Given the description of an element on the screen output the (x, y) to click on. 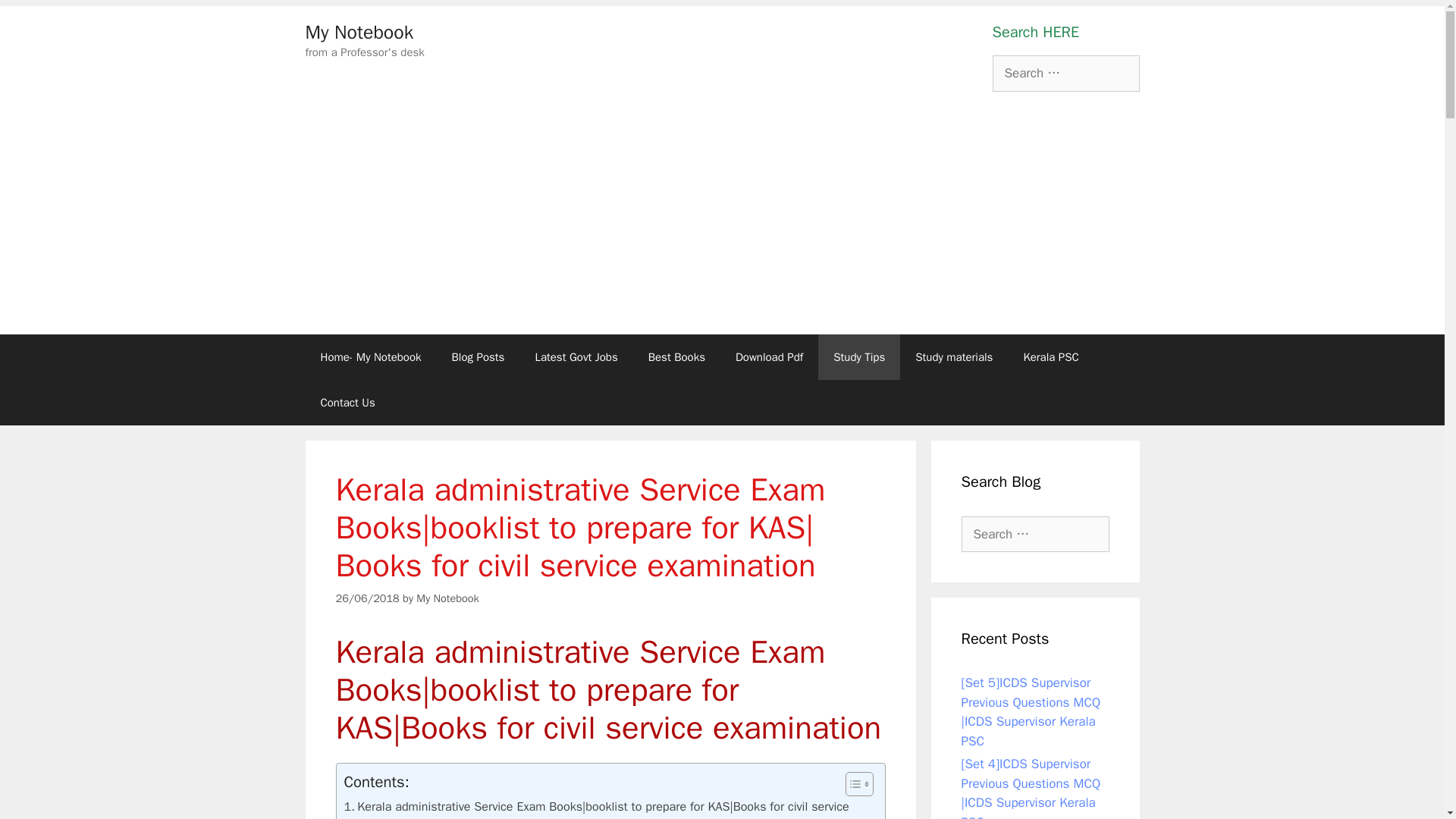
My Notebook (358, 32)
Search (35, 18)
Study materials (953, 356)
Download Pdf (769, 356)
Search for: (1064, 73)
Home- My Notebook (369, 356)
Study Tips (858, 356)
Kerala PSC (1050, 356)
View all posts by My Notebook (447, 598)
Blog Posts (477, 356)
Search for: (1034, 533)
Best Books (676, 356)
Latest Govt Jobs (575, 356)
My Notebook (447, 598)
Contact Us (347, 402)
